Given the description of an element on the screen output the (x, y) to click on. 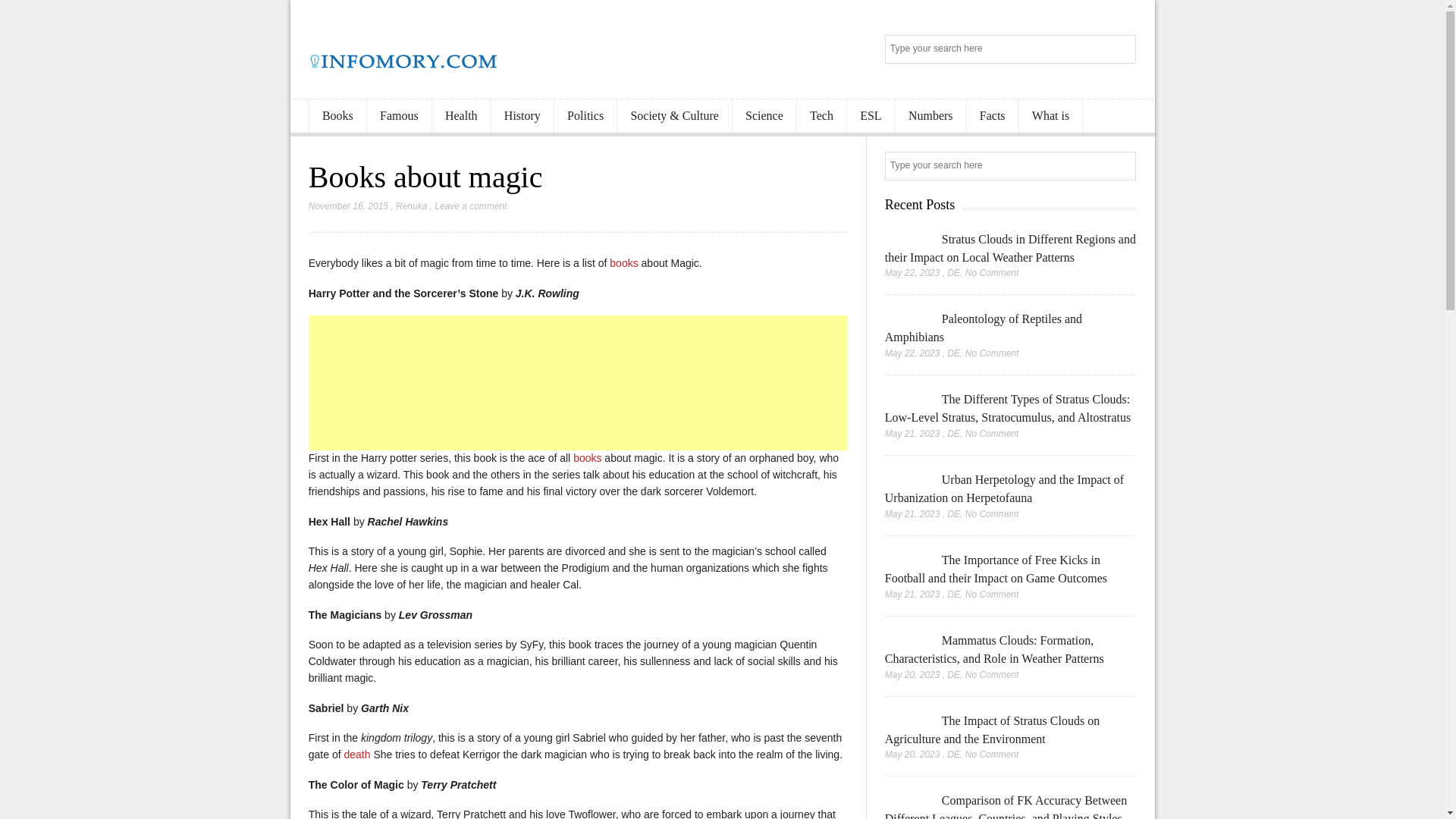
Science (764, 116)
Facts (991, 116)
Tech (820, 116)
death (356, 754)
Books (337, 116)
Health (461, 116)
books (587, 458)
DE (953, 272)
History (522, 116)
